Given the description of an element on the screen output the (x, y) to click on. 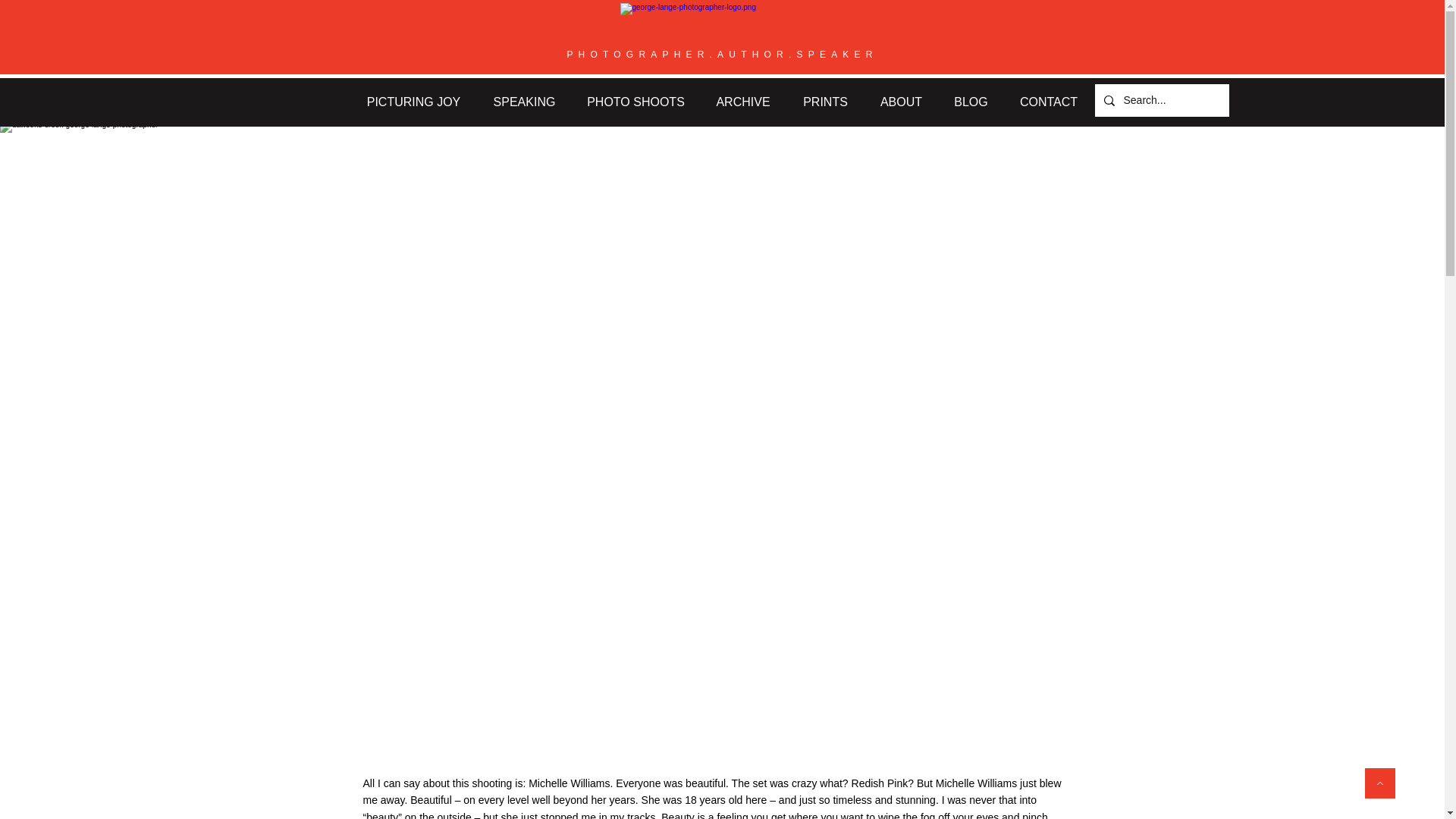
PHOTO SHOOTS (635, 102)
SPEAKING (524, 102)
CONTACT (1049, 102)
BLOG (971, 102)
PICTURING JOY (413, 102)
ABOUT (901, 102)
PRINTS (825, 102)
